Given the description of an element on the screen output the (x, y) to click on. 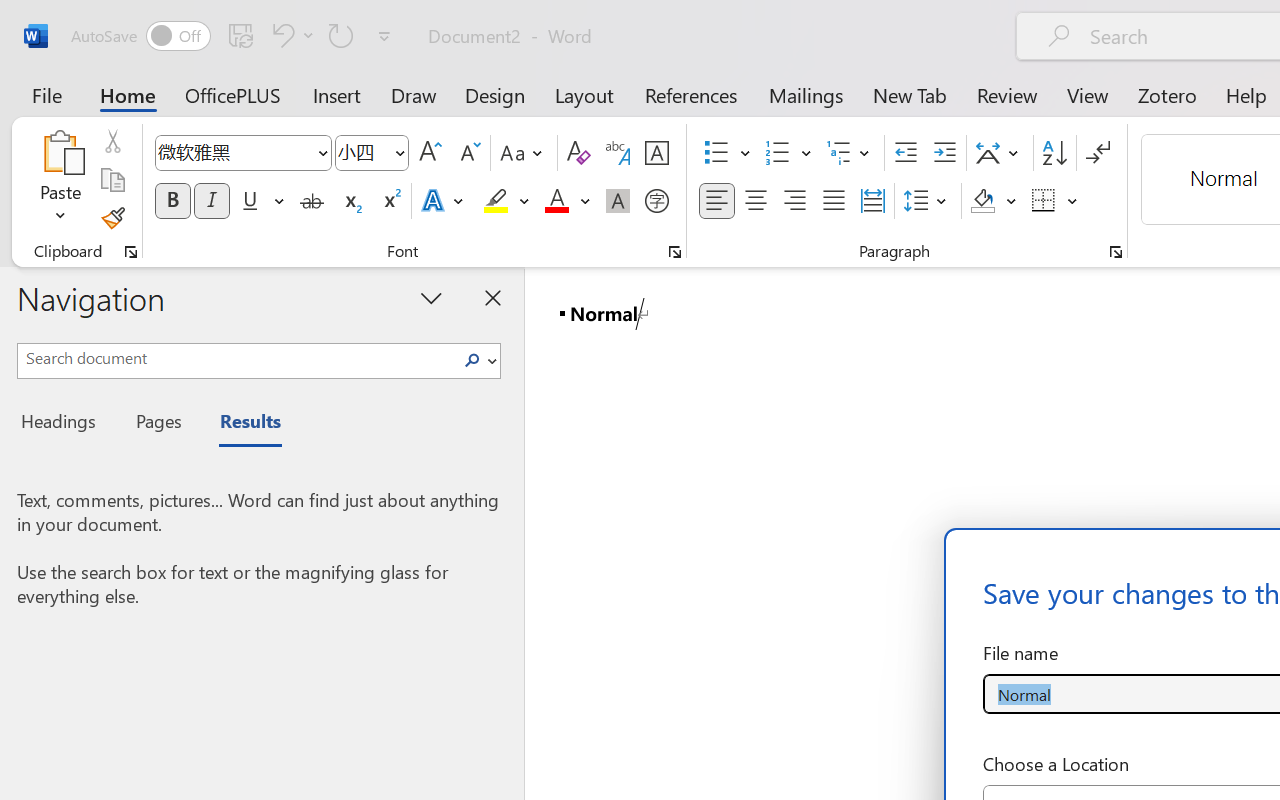
Subscript (350, 201)
Font... (675, 252)
Align Left (716, 201)
Font Color Red (556, 201)
Cut (112, 141)
Design (495, 94)
Align Right (794, 201)
Office Clipboard... (131, 252)
File Tab (46, 94)
